Given the description of an element on the screen output the (x, y) to click on. 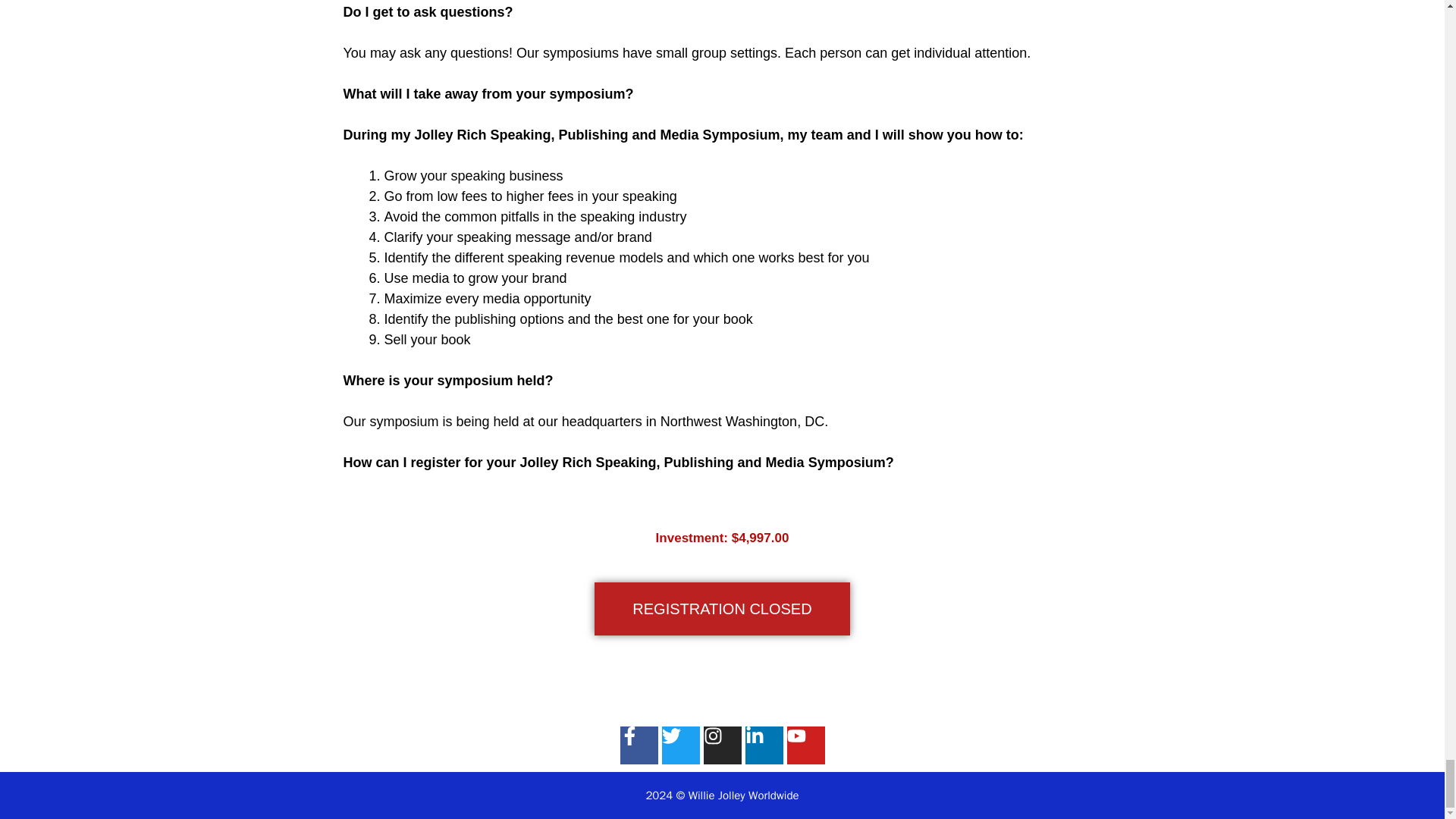
REGISTRATION CLOSED (721, 608)
